Given the description of an element on the screen output the (x, y) to click on. 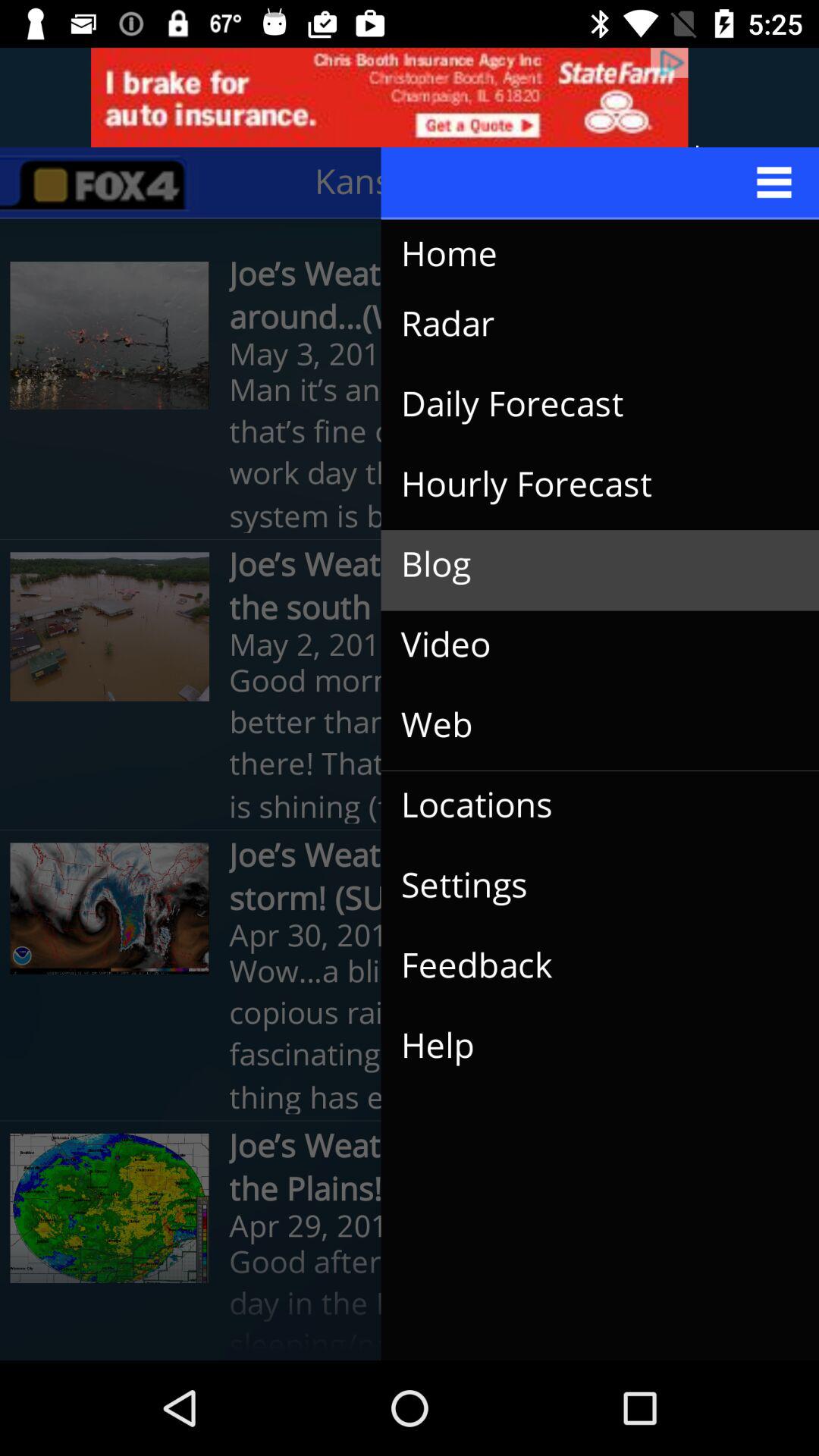
tap the web (587, 725)
